Given the description of an element on the screen output the (x, y) to click on. 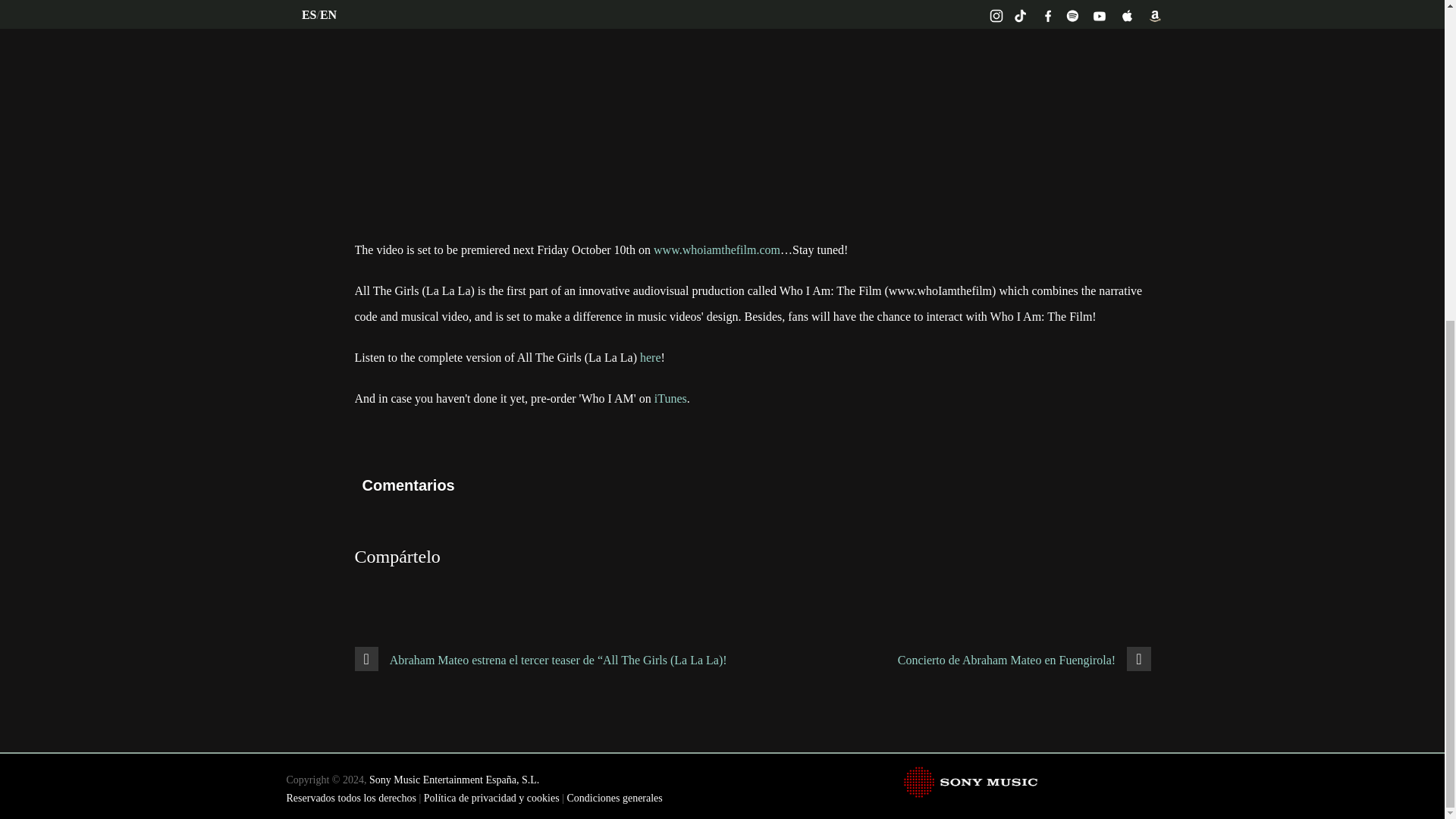
Condiciones generales (614, 797)
here (650, 357)
iTunes (670, 398)
www.whoiamthefilm.com (716, 249)
Reservados todos los derechos (351, 797)
Concierto de Abraham Mateo en Fuengirola! (1026, 659)
